Given the description of an element on the screen output the (x, y) to click on. 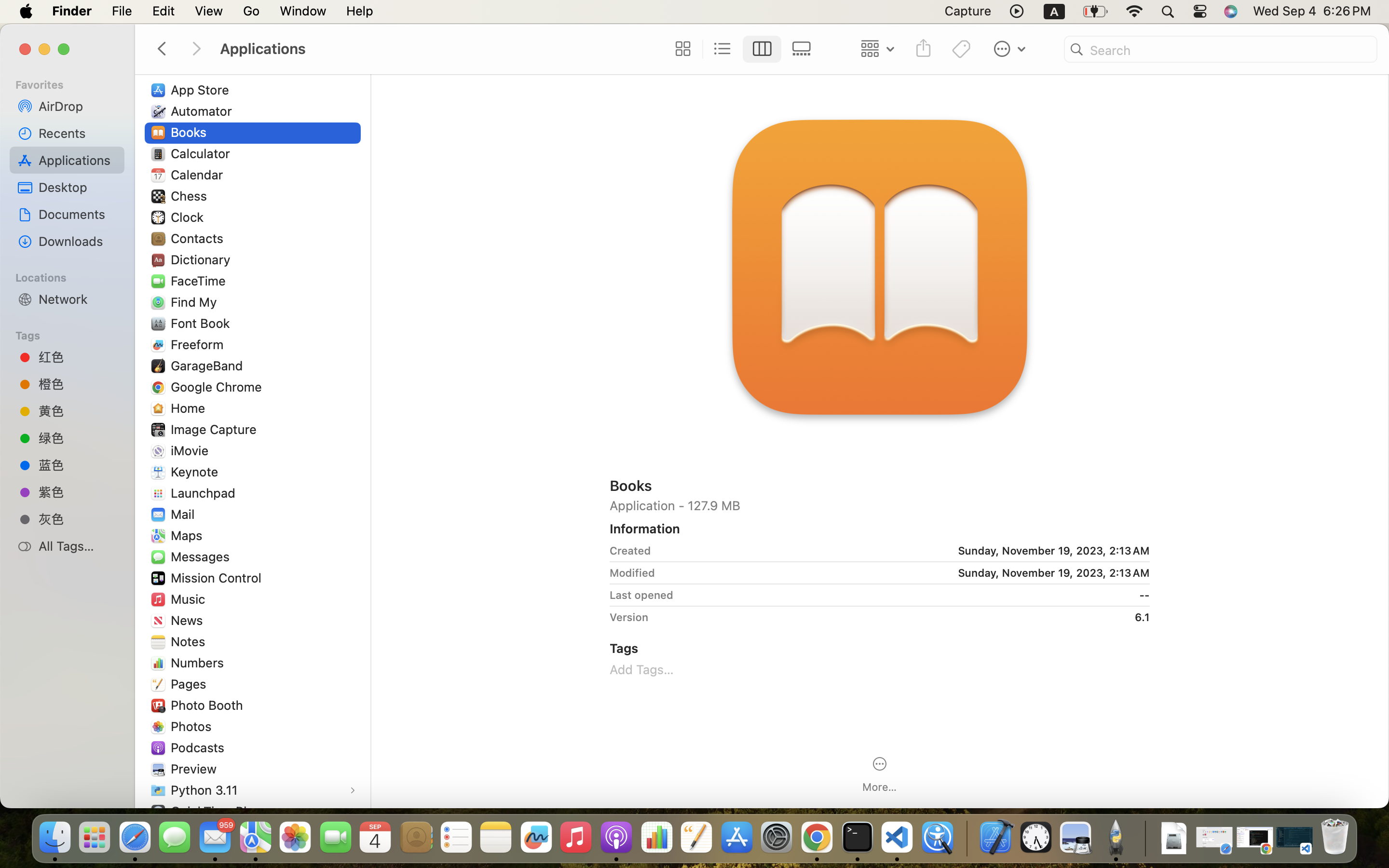
All Tags… Element type: AXStaticText (77, 545)
Downloads Element type: AXStaticText (77, 240)
0.4285714328289032 Element type: AXDockItem (965, 837)
Contacts Element type: AXTextField (198, 237)
Automator Element type: AXTextField (203, 110)
